Given the description of an element on the screen output the (x, y) to click on. 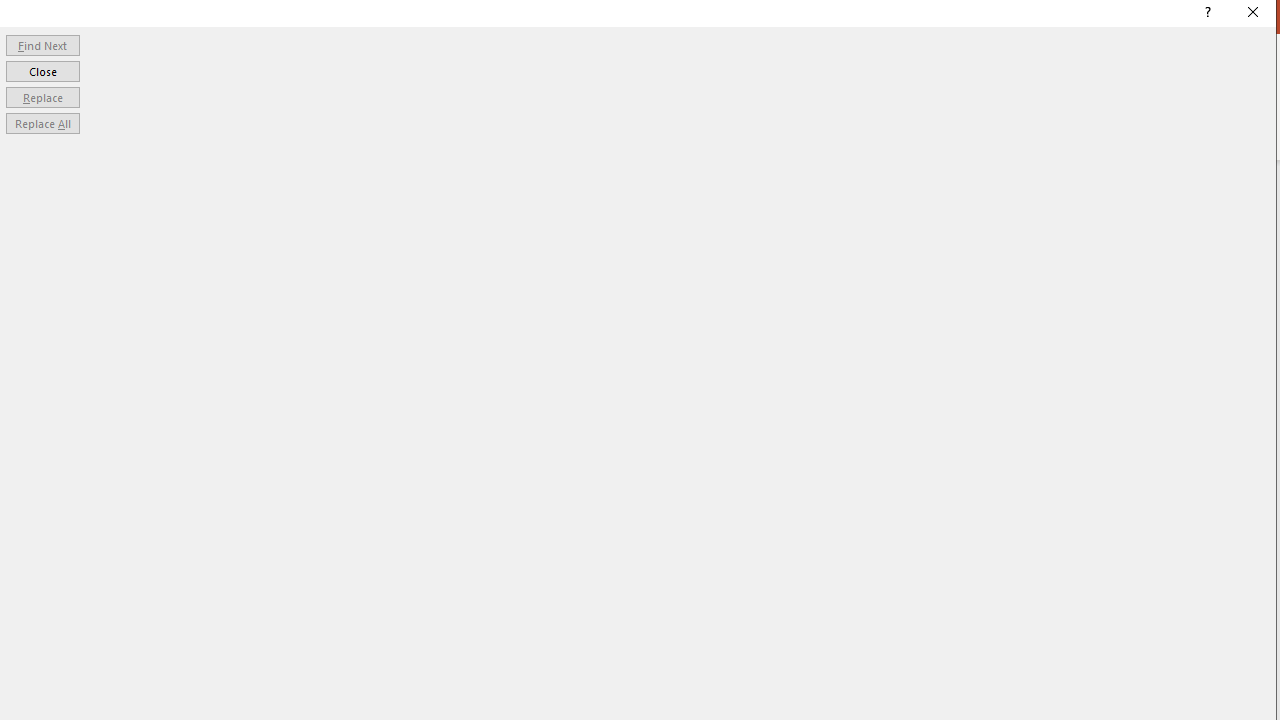
Context help (1206, 14)
Replace (42, 96)
Replace All (42, 123)
Find Next (42, 44)
